Given the description of an element on the screen output the (x, y) to click on. 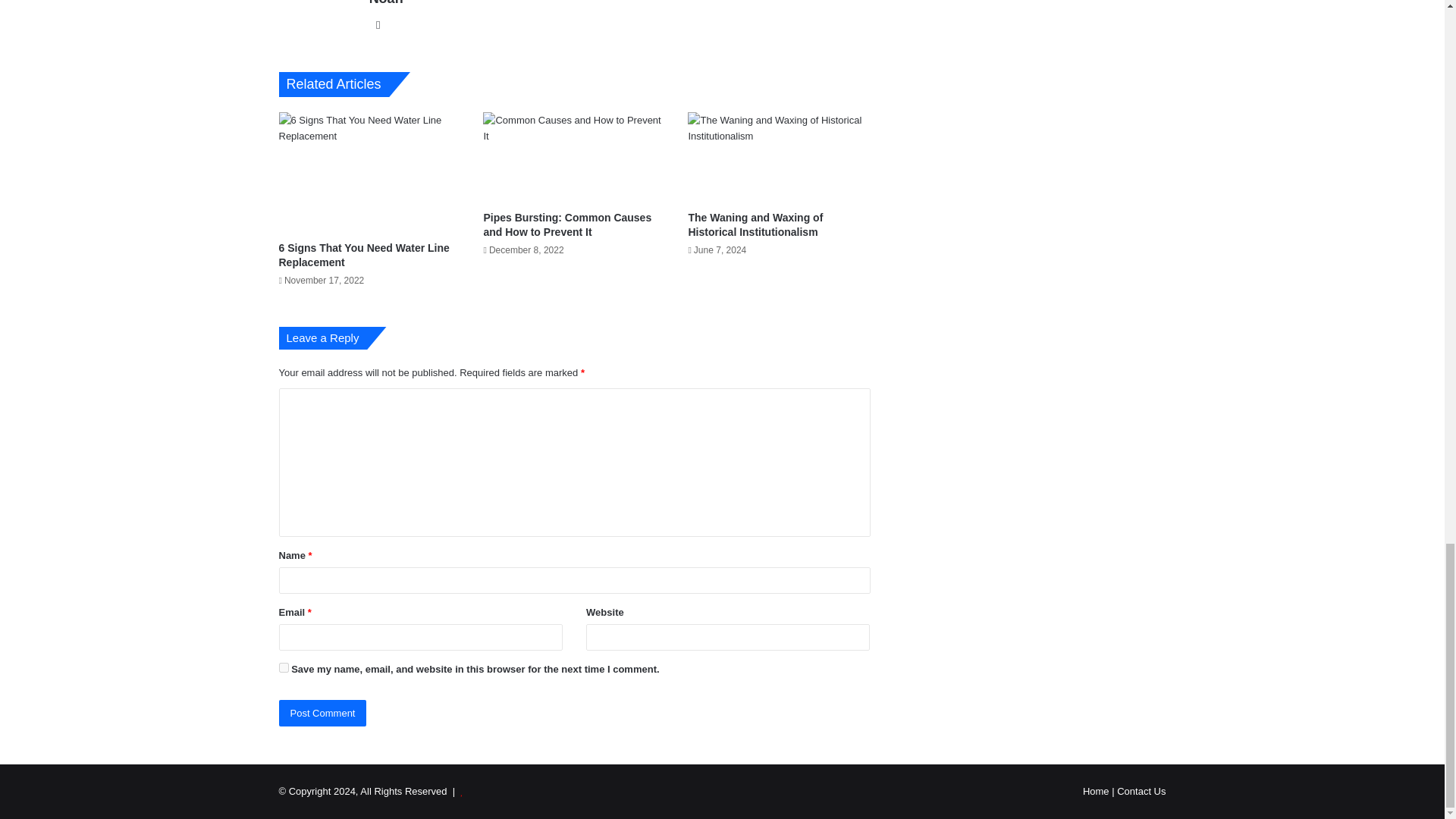
yes (283, 667)
Website (378, 24)
Pipes Bursting: Common Causes and How to Prevent It (566, 224)
Post Comment (322, 713)
Noah (386, 2)
6 Signs That You Need Water Line Replacement (364, 254)
